Given the description of an element on the screen output the (x, y) to click on. 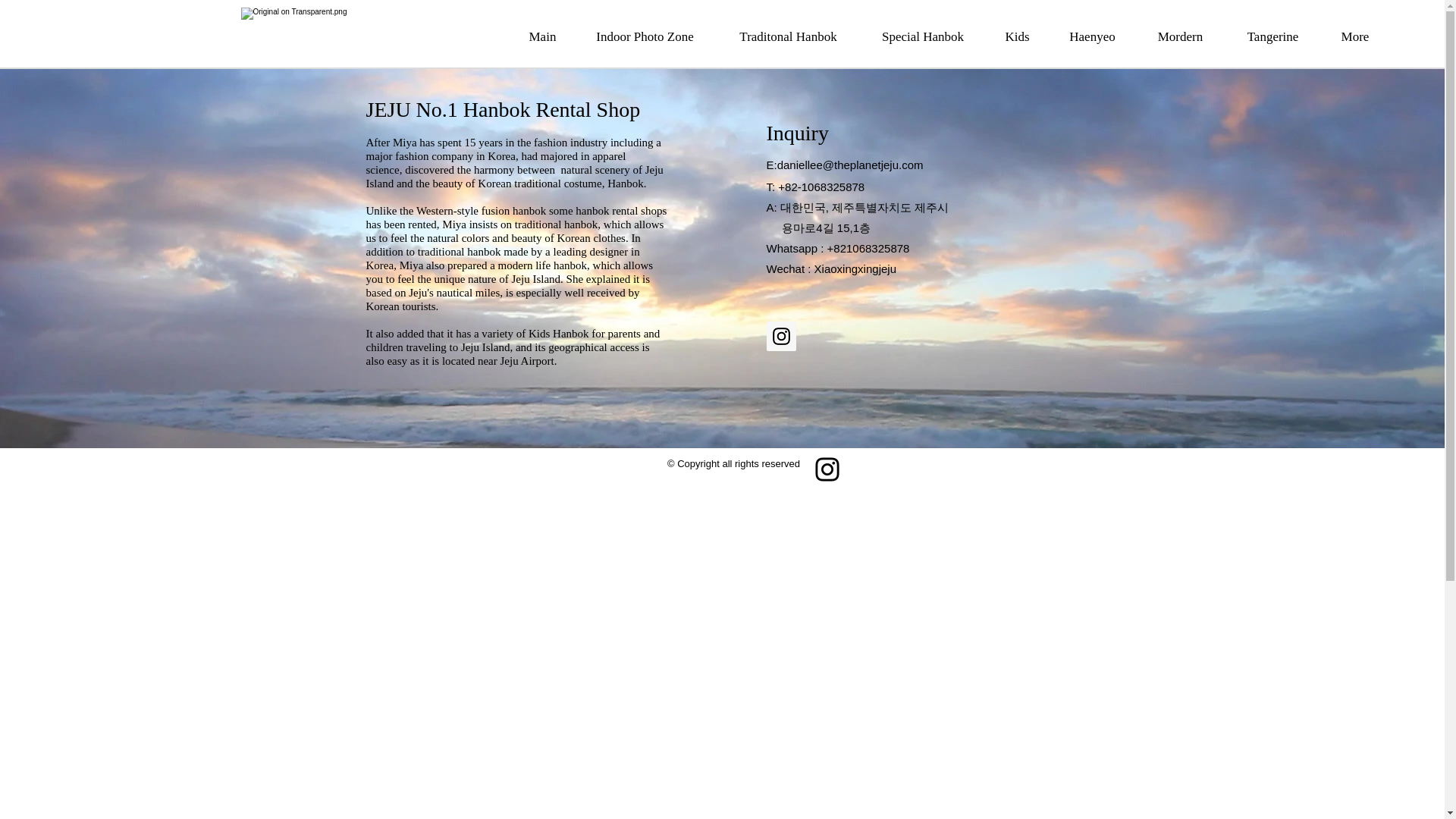
Kids (1016, 37)
Tangerine (1272, 37)
Mordern (1179, 37)
Haenyeo (1091, 37)
Traditonal Hanbok (788, 37)
Special Hanbok (923, 37)
Main (540, 37)
Indoor Photo Zone (645, 37)
